Given the description of an element on the screen output the (x, y) to click on. 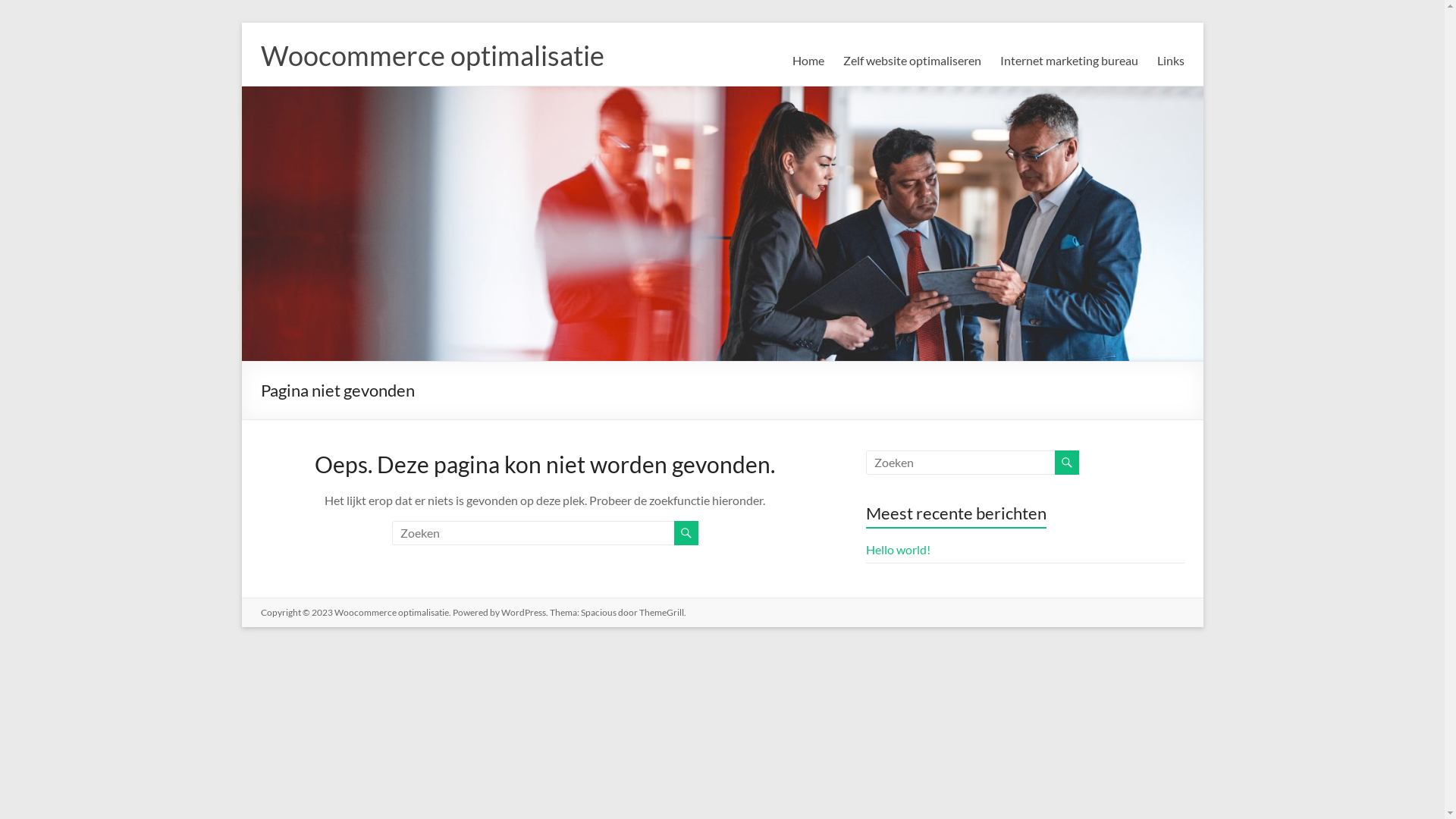
Home Element type: text (807, 60)
Internet marketing bureau Element type: text (1068, 60)
Links Element type: text (1170, 60)
WordPress Element type: text (522, 612)
Woocommerce optimalisatie Element type: text (390, 612)
Skip to content Element type: text (241, 21)
Woocommerce optimalisatie Element type: text (432, 55)
Zelf website optimaliseren Element type: text (912, 60)
ThemeGrill Element type: text (660, 612)
Hello world! Element type: text (898, 549)
